Given the description of an element on the screen output the (x, y) to click on. 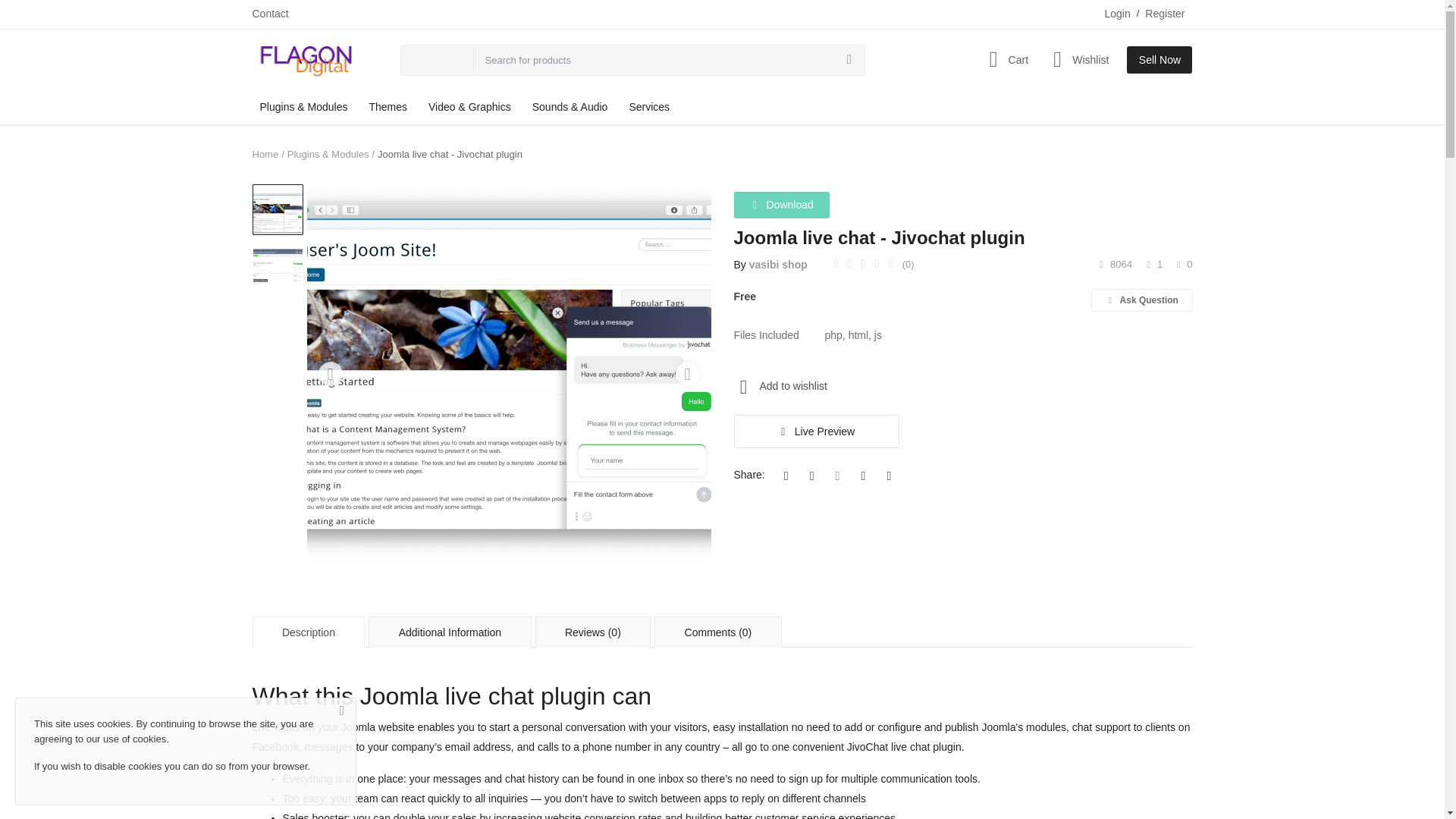
Contact (269, 13)
Wishlist (1078, 59)
Services (649, 107)
Sell Now (1159, 59)
Register (1164, 13)
Cart (1004, 59)
Themes (387, 107)
Login (1116, 13)
